Given the description of an element on the screen output the (x, y) to click on. 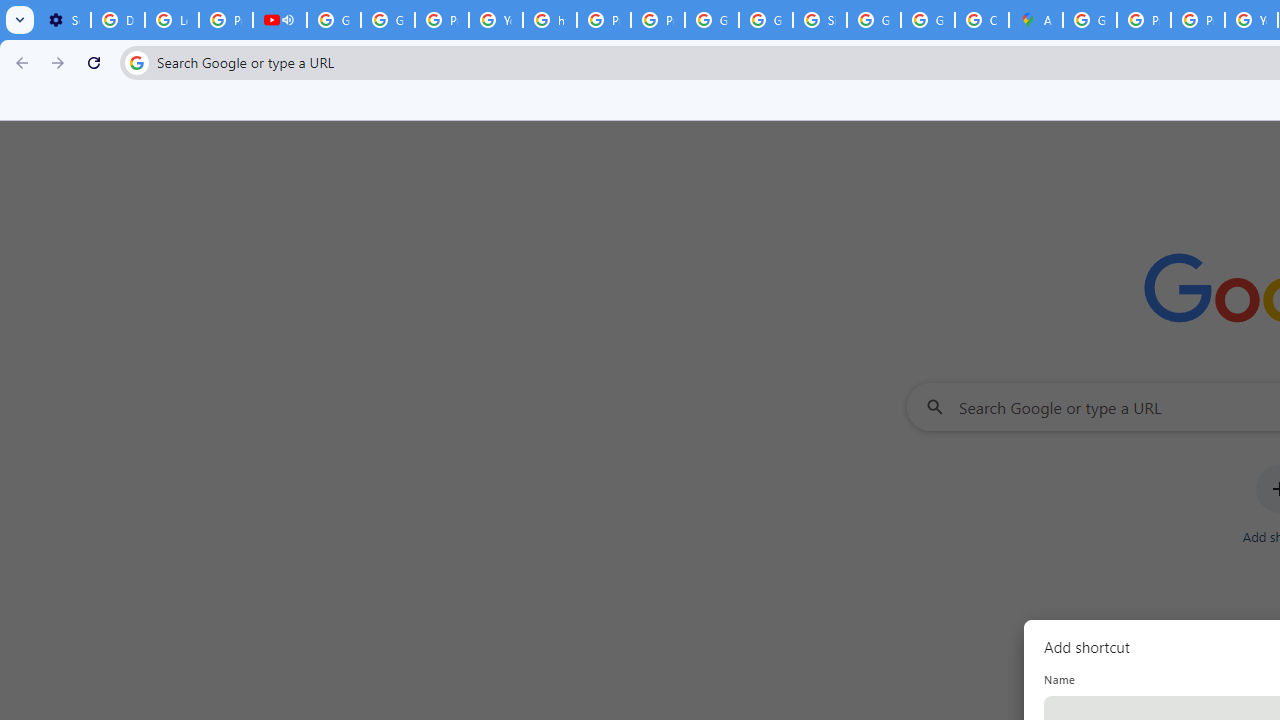
Delete photos & videos - Computer - Google Photos Help (117, 20)
YouTube (495, 20)
Create your Google Account (981, 20)
Settings - Performance (63, 20)
Search icon (136, 62)
Google Account Help (387, 20)
Learn how to find your photos - Google Photos Help (171, 20)
